Given the description of an element on the screen output the (x, y) to click on. 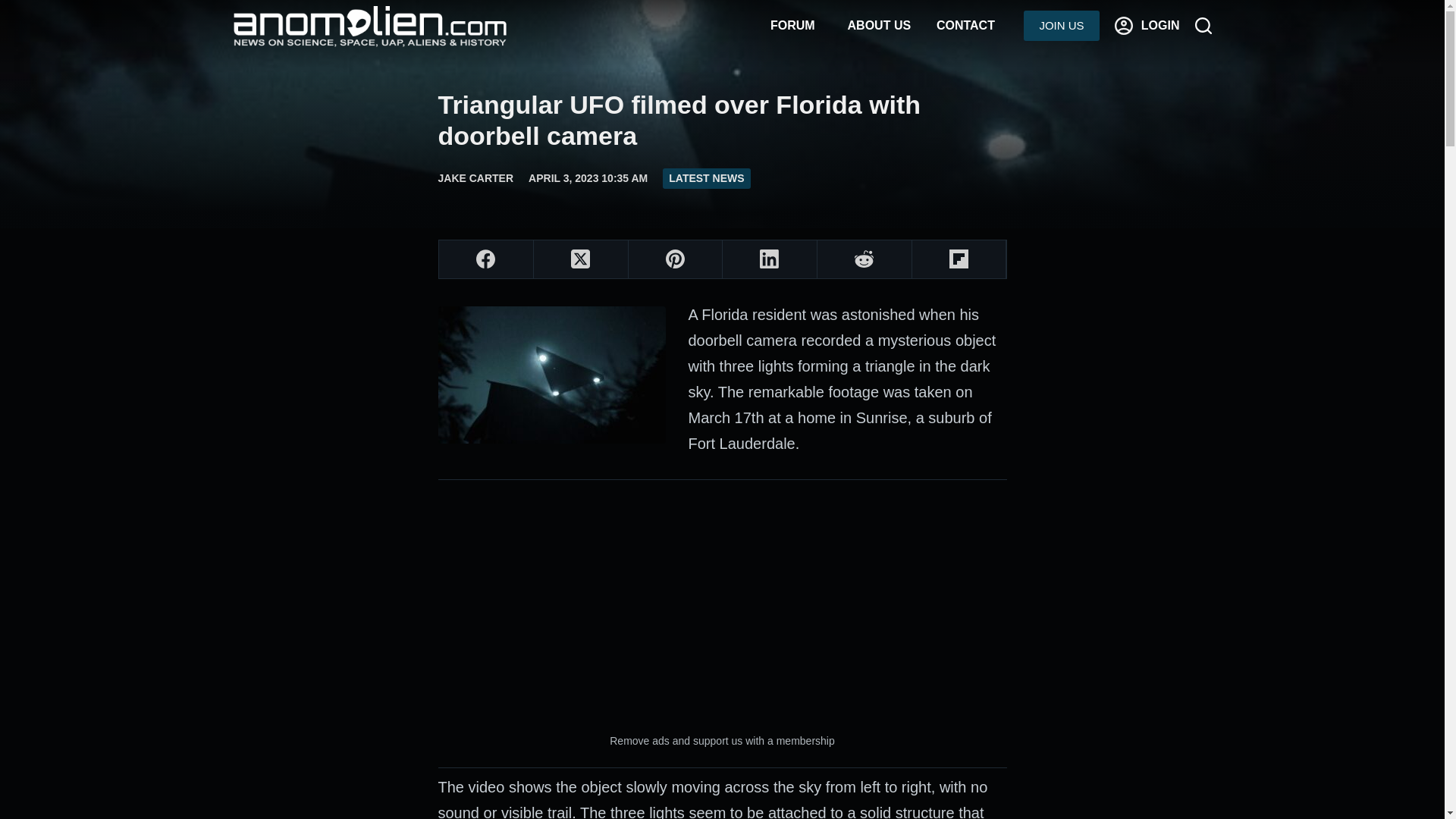
Triangular UFO filmed over Florida with doorbell camera (722, 120)
Posts by Jake Carter (475, 177)
Skip to content (15, 7)
Discussion Forum (792, 25)
